Given the description of an element on the screen output the (x, y) to click on. 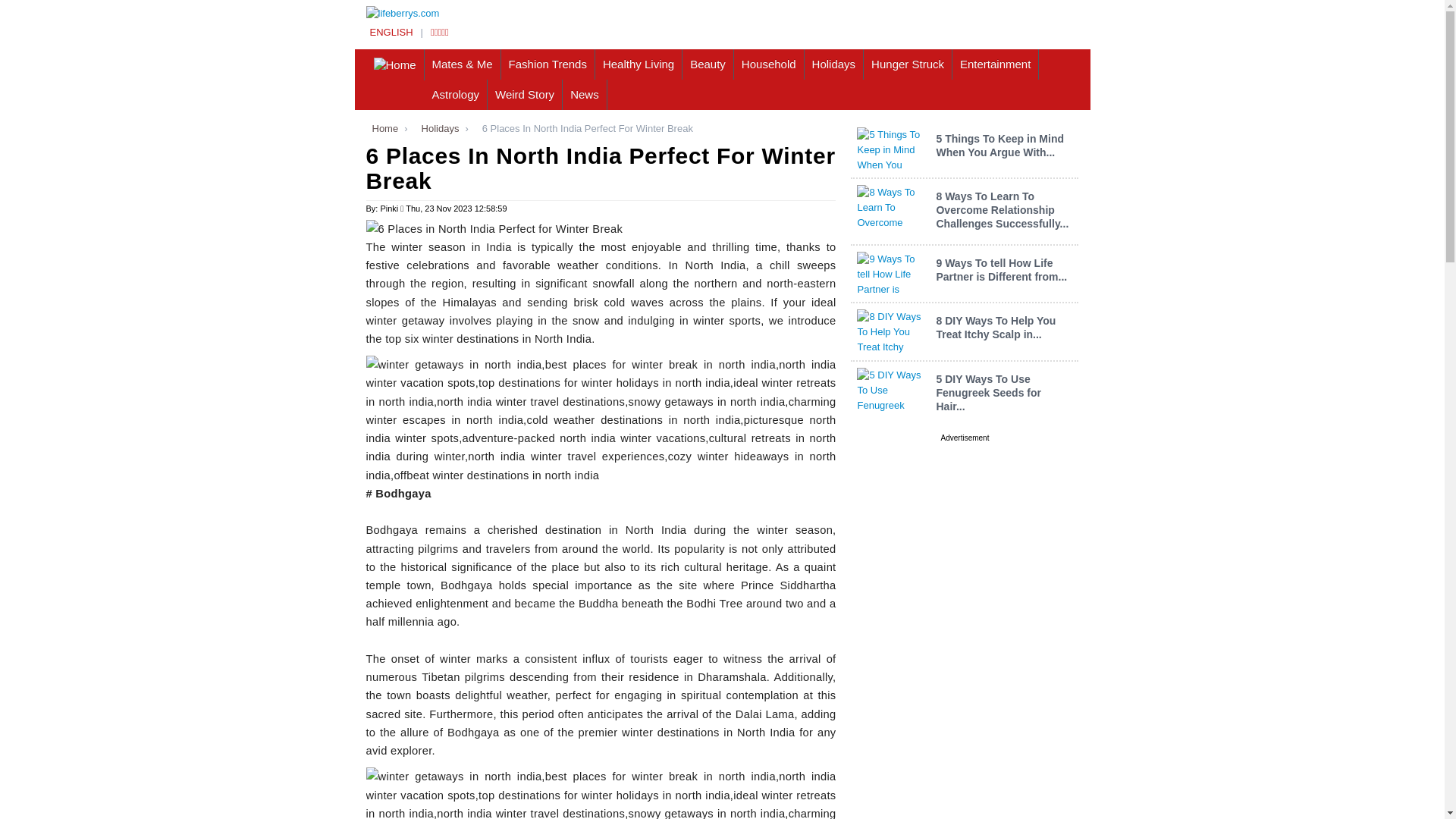
Home (381, 128)
9 Ways To tell How Life Partner is Different from... (1001, 269)
Fashion Trends (547, 64)
Holidays, Travel (834, 64)
Weird Story (524, 94)
Astrology, Jyotish (456, 94)
Holidays (834, 64)
Beauty (707, 64)
Hunger Struck, Recipes (907, 64)
5 DIY Ways To Use Fenugreek Seeds for Hair... (988, 392)
Beauty, Beauty Tips, Beauty Care (707, 64)
Household (769, 64)
Holidays (437, 128)
Holidays (437, 128)
News (584, 94)
